Given the description of an element on the screen output the (x, y) to click on. 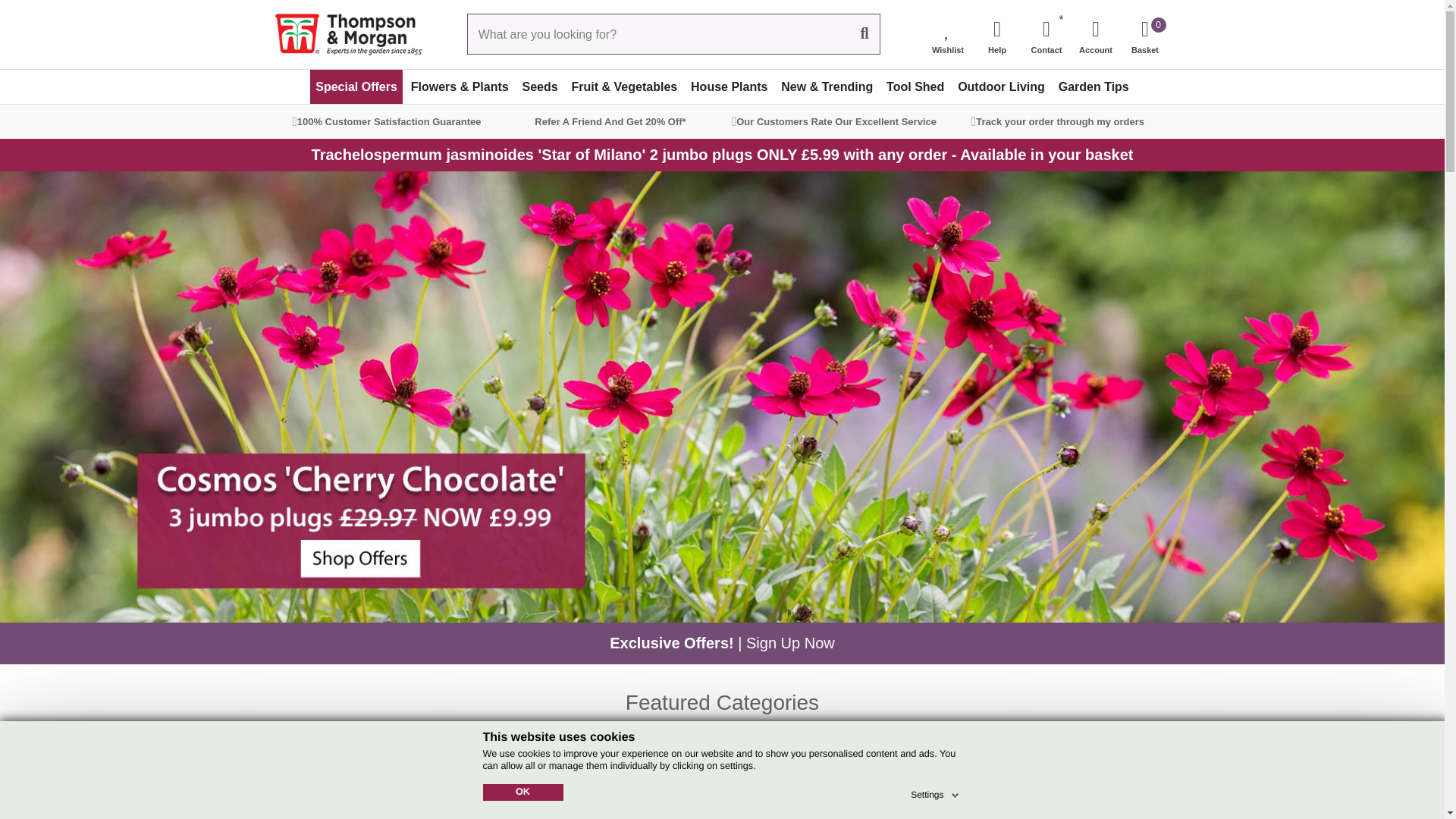
OK (521, 791)
Join (1083, 782)
Settings (935, 791)
